Given the description of an element on the screen output the (x, y) to click on. 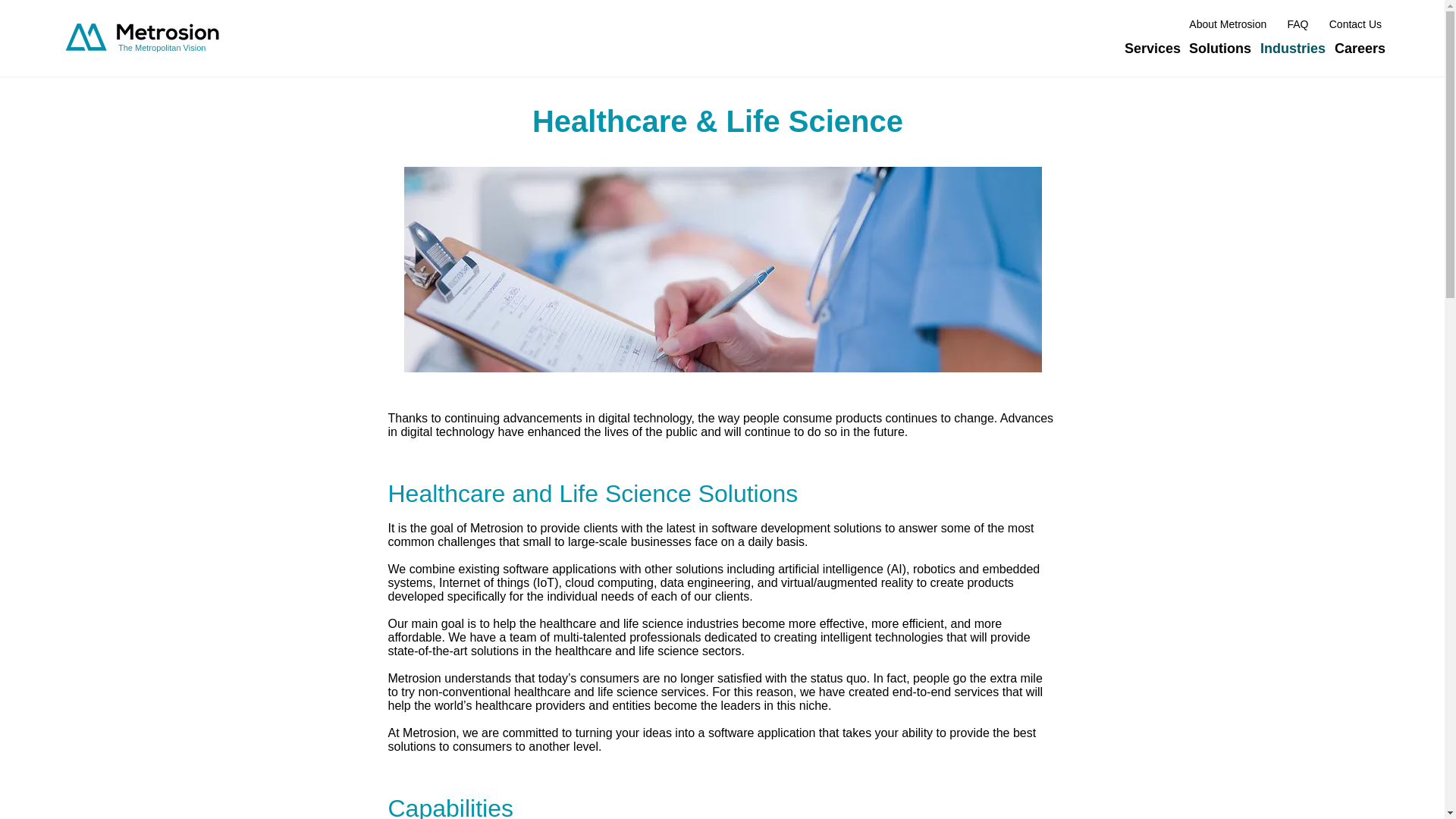
Solutions (1216, 47)
FAQ (1297, 24)
Careers (1357, 47)
Contact Us (1355, 24)
Industries (1289, 47)
Services (1148, 47)
About Metrosion (1227, 24)
